Given the description of an element on the screen output the (x, y) to click on. 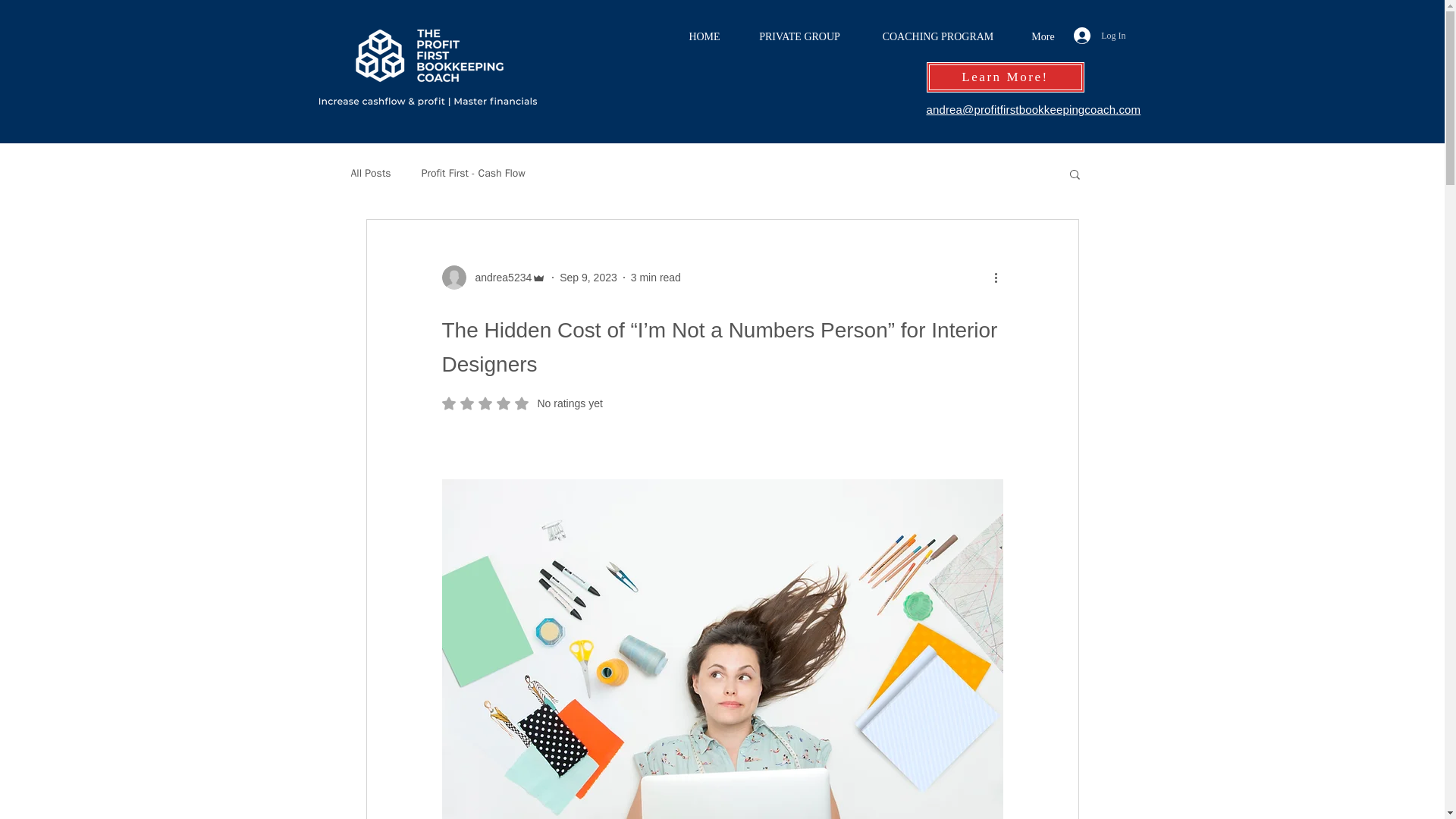
Profit First - Cash Flow (473, 173)
andrea5234 (493, 277)
All Posts (370, 173)
COACHING PROGRAM (521, 403)
Learn More! (937, 36)
3 min read (1005, 77)
HOME (655, 277)
Sep 9, 2023 (704, 36)
andrea5234 (588, 277)
